Given the description of an element on the screen output the (x, y) to click on. 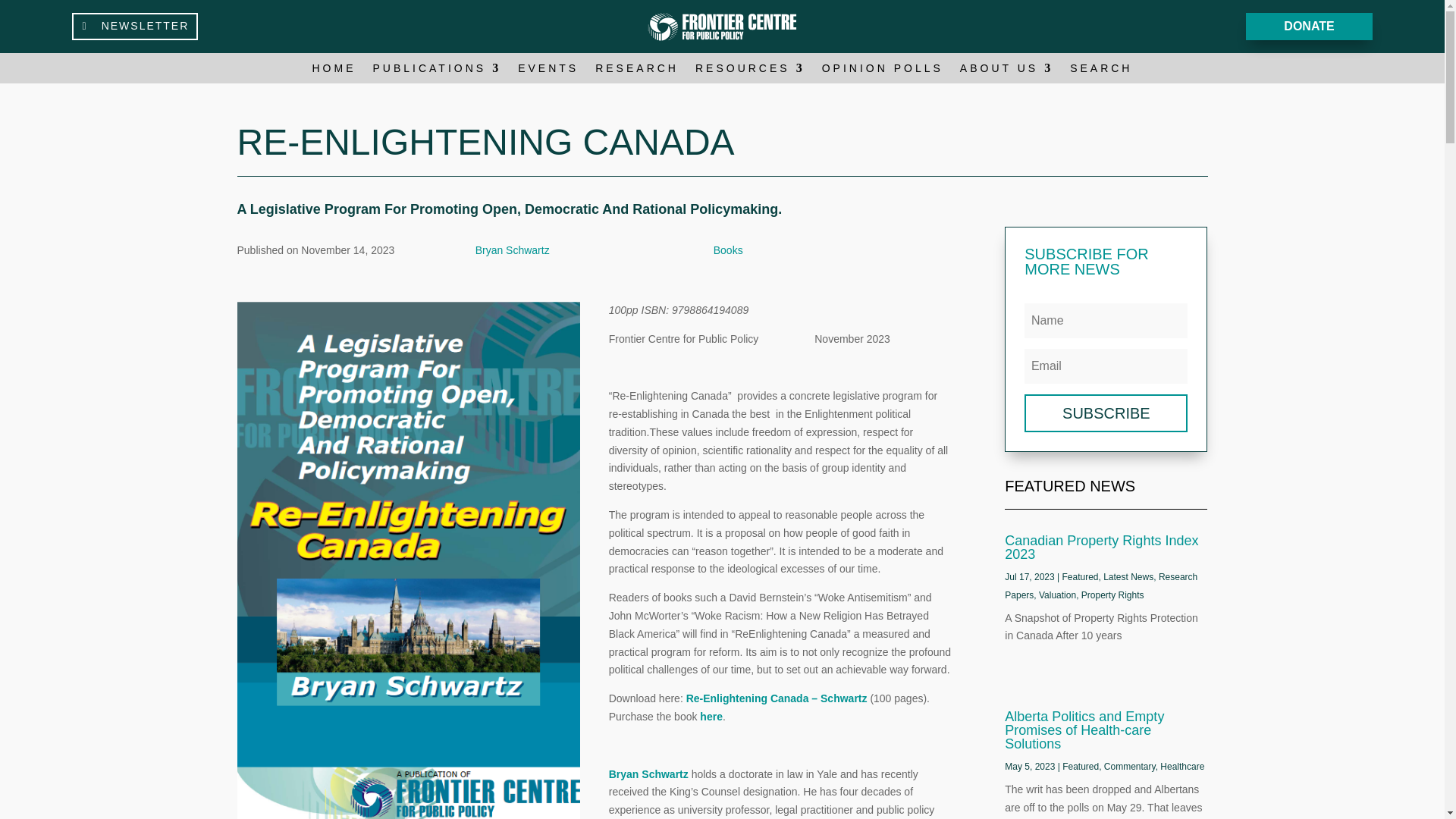
FCPP Icon White (722, 25)
DONATE (1308, 26)
HOME (334, 71)
NEWSLETTER (134, 26)
PUBLICATIONS (437, 71)
RESOURCES (750, 71)
ABOUT US (1005, 71)
OPINION POLLS (882, 71)
EVENTS (548, 71)
RESEARCH (636, 71)
